Given the description of an element on the screen output the (x, y) to click on. 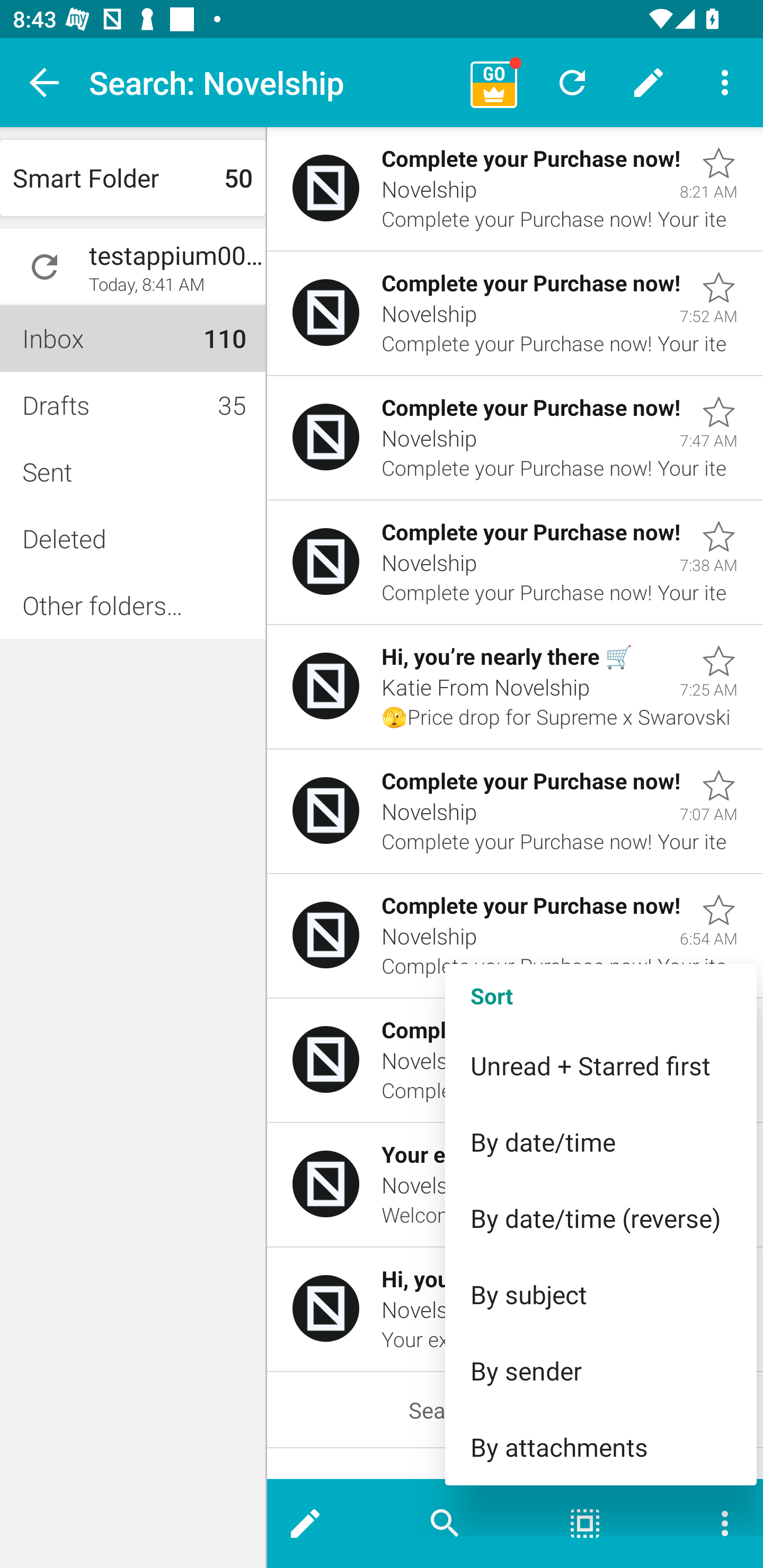
Unread + Starred first (600, 1065)
By date/time (600, 1141)
By date/time (reverse) (600, 1217)
By subject (600, 1293)
By sender (600, 1370)
By attachments (600, 1446)
